Given the description of an element on the screen output the (x, y) to click on. 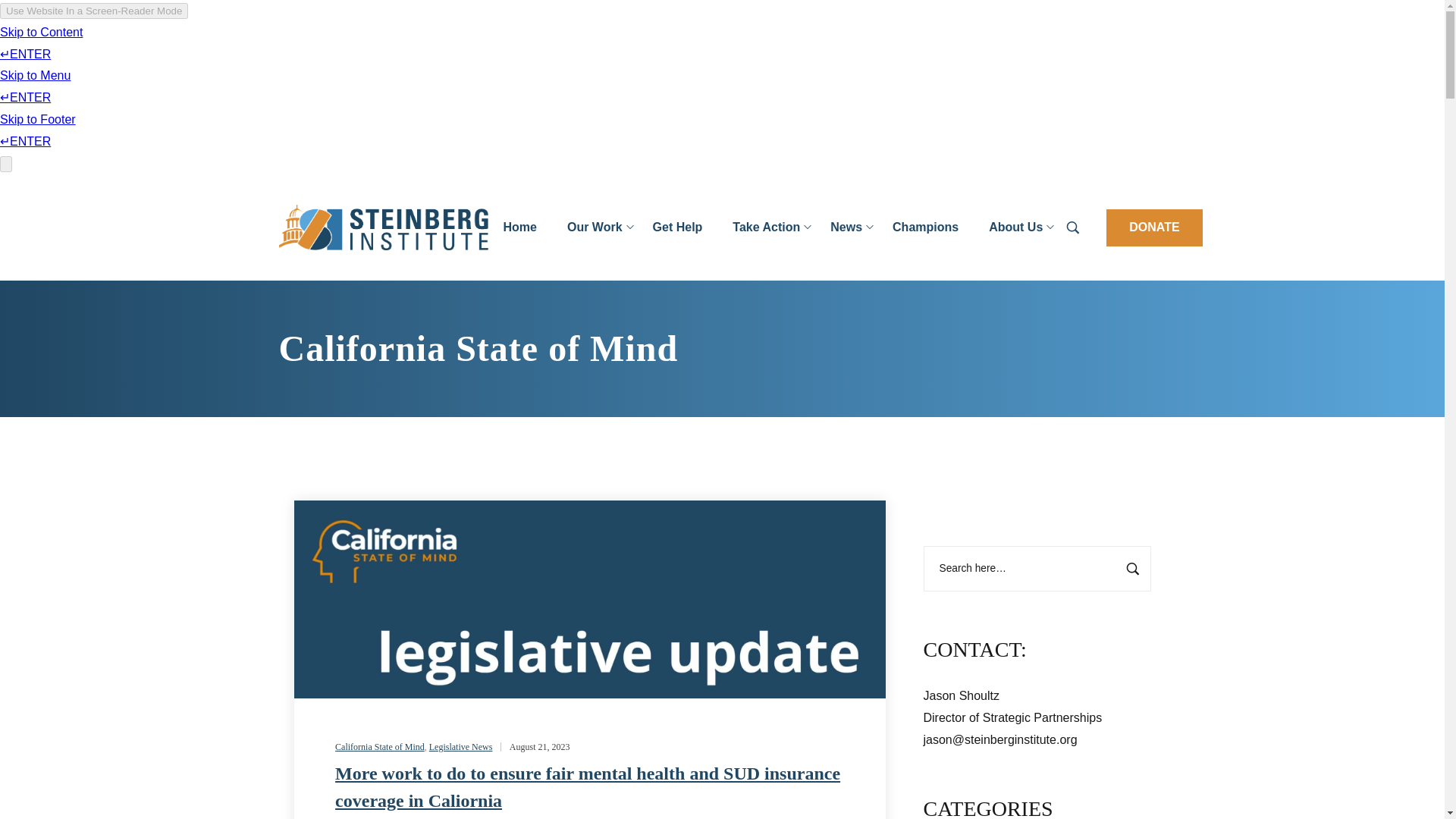
About Us (1016, 228)
DONATE (1154, 227)
Take Action (766, 228)
Champions (925, 228)
News (846, 228)
Our Work (594, 228)
Home (519, 228)
Get Help (677, 228)
Search for: (1037, 568)
